Given the description of an element on the screen output the (x, y) to click on. 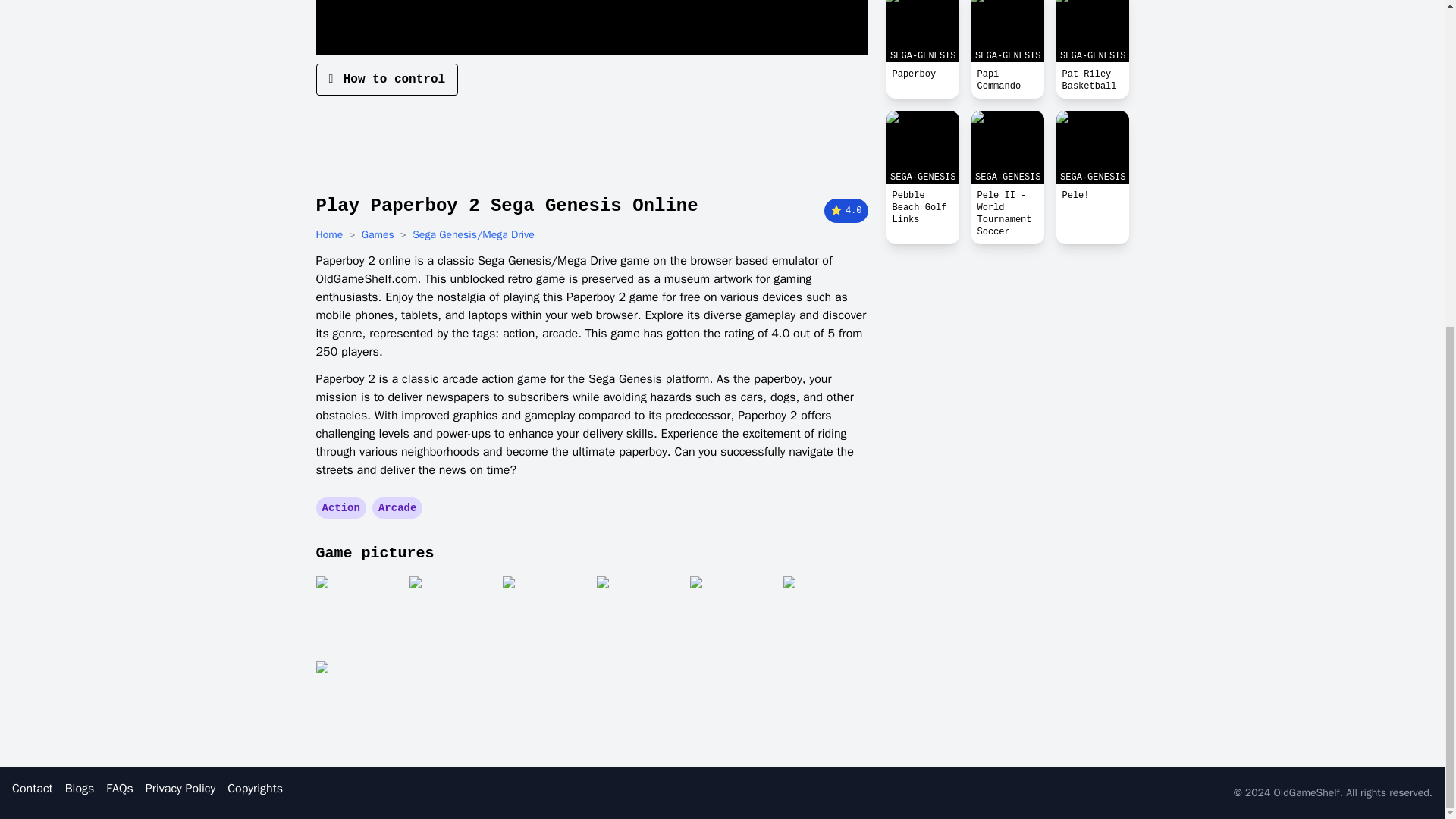
SEGA-GENESIS (1091, 146)
SEGA-GENESIS (1007, 146)
Home (328, 234)
SEGA-GENESIS (921, 31)
Arcade (397, 508)
Papi Commando (1007, 80)
Pele II - World Tournament Soccer (1007, 213)
Games (377, 234)
Home (328, 234)
Arcade (397, 508)
Action (340, 508)
FAQs (119, 788)
Paperboy 2 game screenshot 5 (732, 613)
Privacy Policy (180, 788)
Paperboy (921, 74)
